Given the description of an element on the screen output the (x, y) to click on. 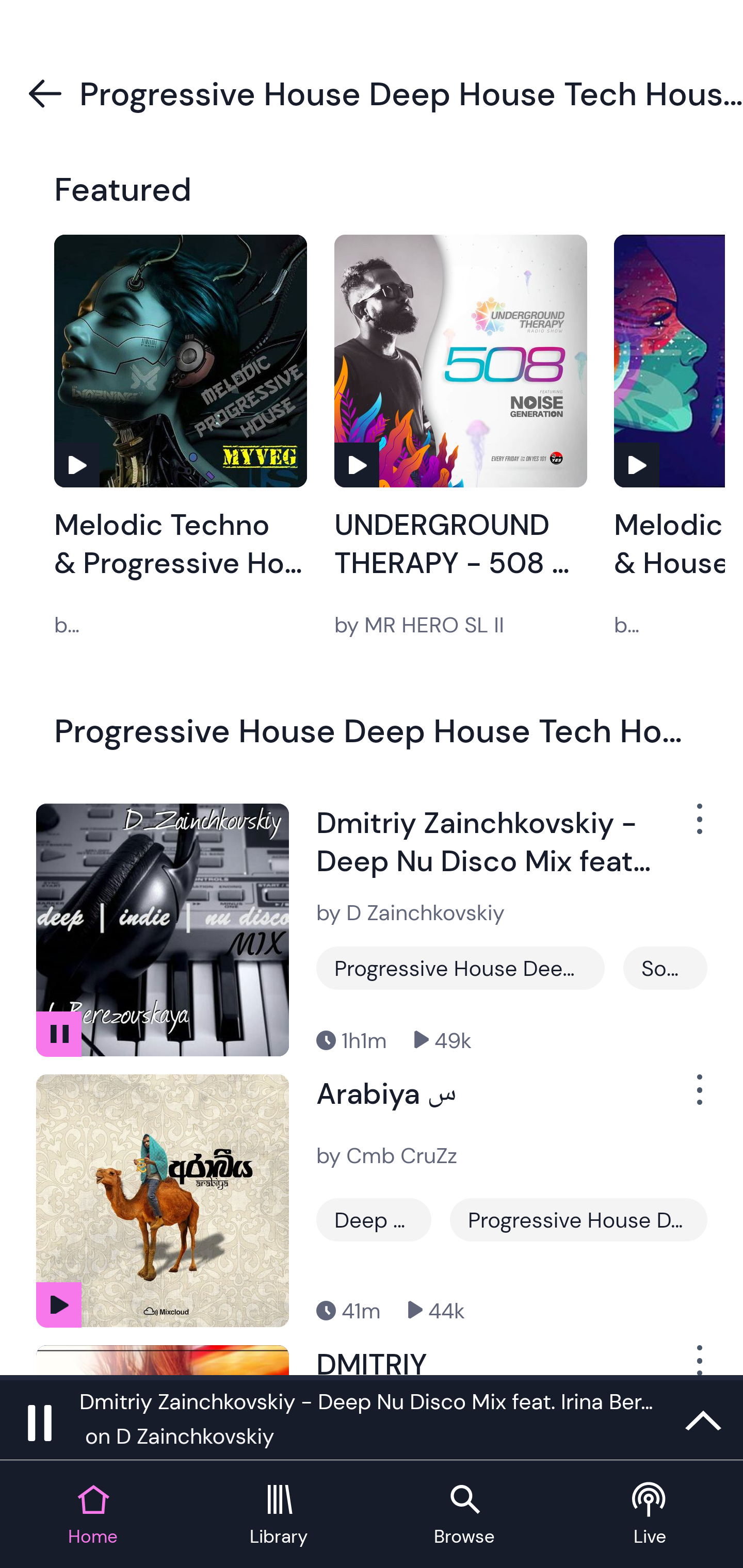
Show Options Menu Button (697, 825)
Progressive House Deep House Tech House (460, 968)
Soulful (664, 968)
Show Options Menu Button (697, 1097)
Deep House (373, 1219)
Progressive House Deep House Tech House (578, 1219)
Show Options Menu Button (697, 1360)
Home tab Home (92, 1515)
Library tab Library (278, 1515)
Browse tab Browse (464, 1515)
Live tab Live (650, 1515)
